Given the description of an element on the screen output the (x, y) to click on. 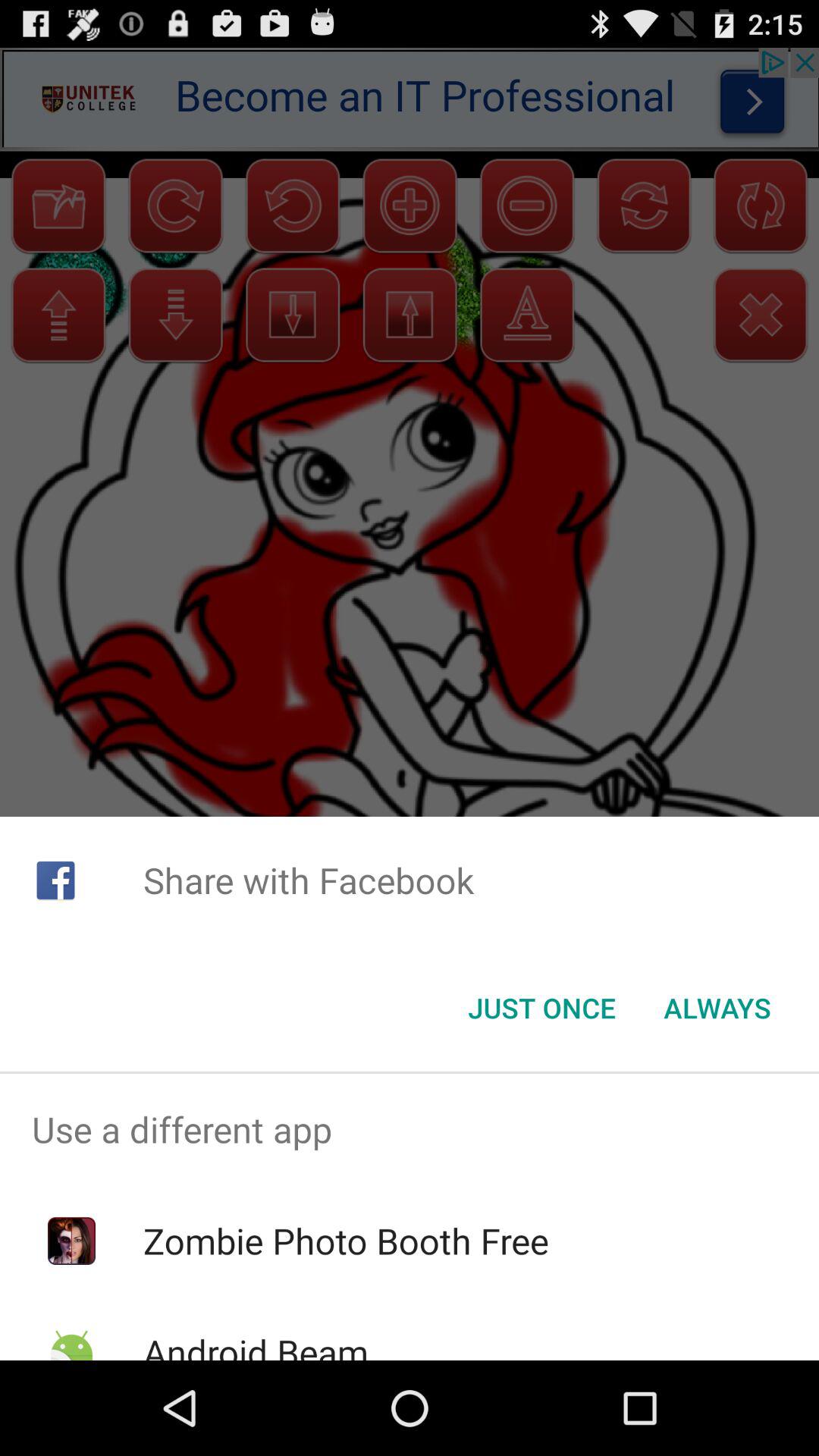
swipe until always item (717, 1007)
